Given the description of an element on the screen output the (x, y) to click on. 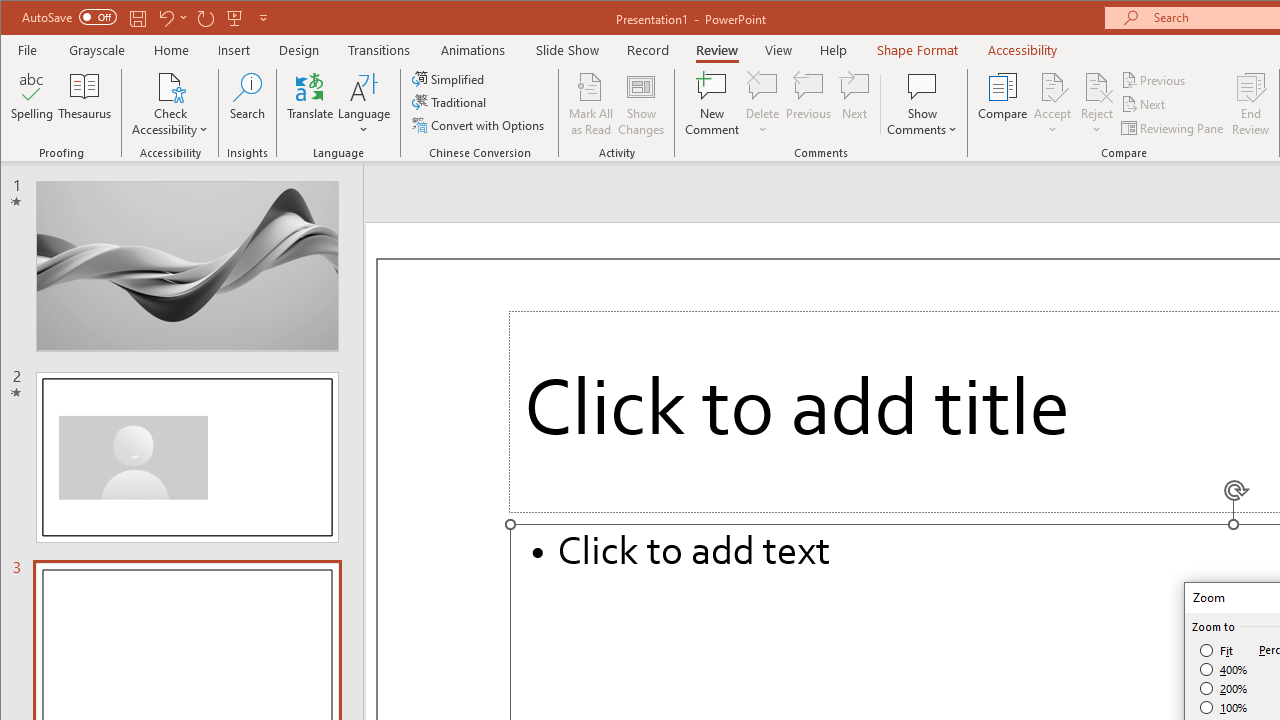
Translate (310, 104)
Next (1144, 103)
Grayscale (97, 50)
100% (1224, 707)
